Given the description of an element on the screen output the (x, y) to click on. 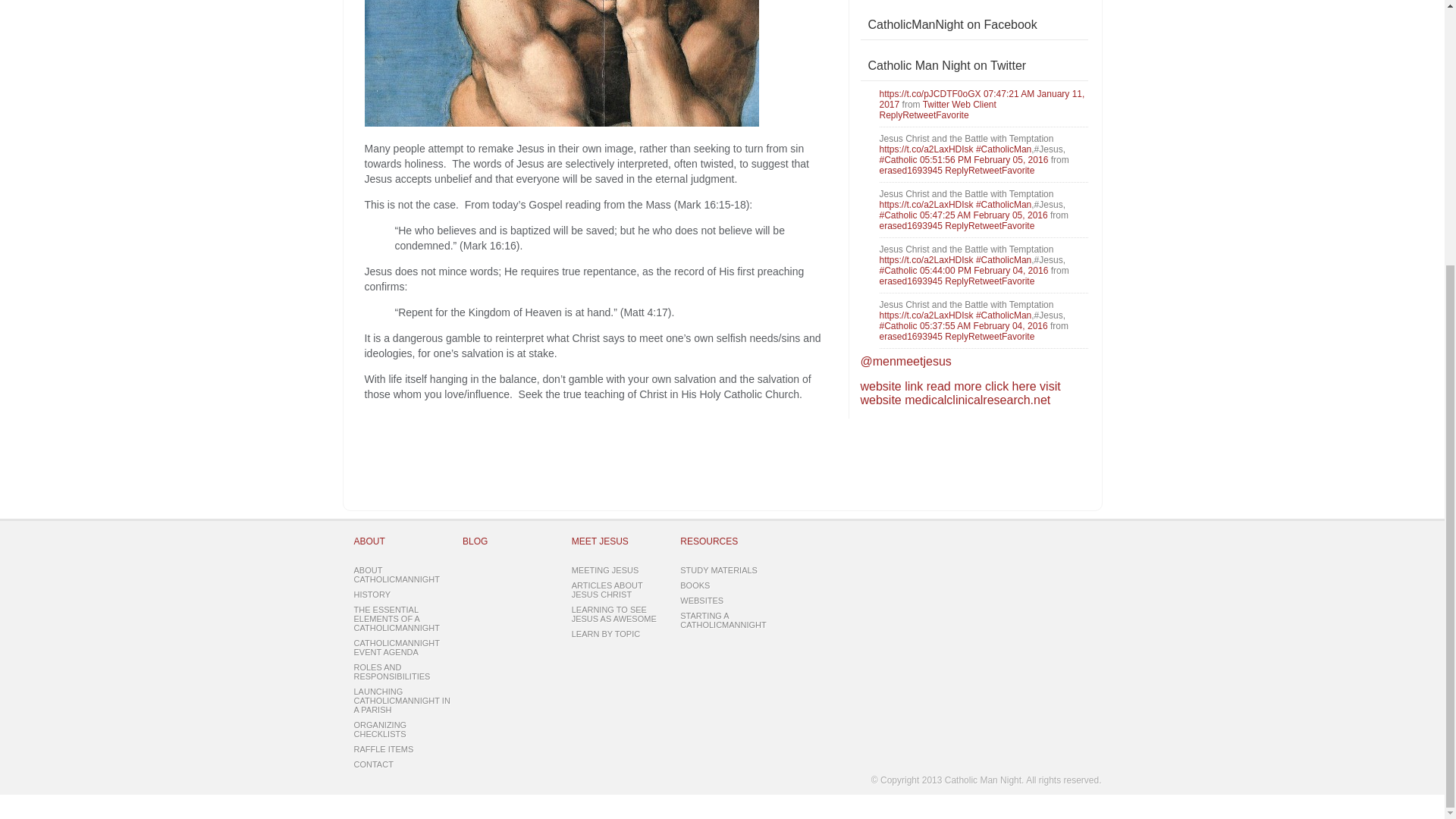
Reply (956, 225)
Reply (956, 170)
Twitter Web Client (959, 104)
Favorite (952, 114)
Reply (890, 114)
Retweet (919, 114)
Favorite (1017, 170)
Reply (956, 281)
Retweet (984, 225)
Favorite (1017, 225)
